Given the description of an element on the screen output the (x, y) to click on. 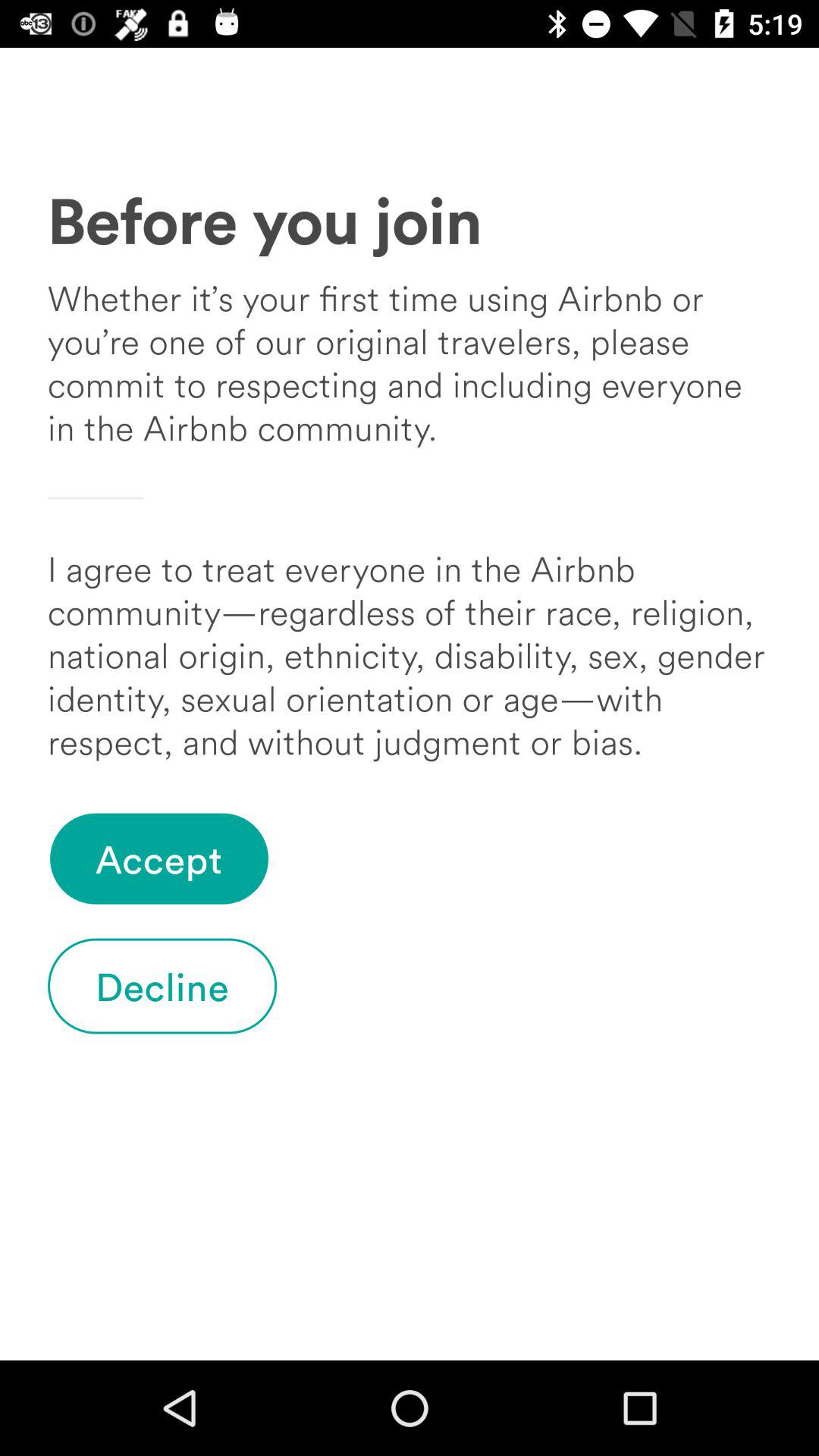
click the icon below i agree to item (158, 858)
